Given the description of an element on the screen output the (x, y) to click on. 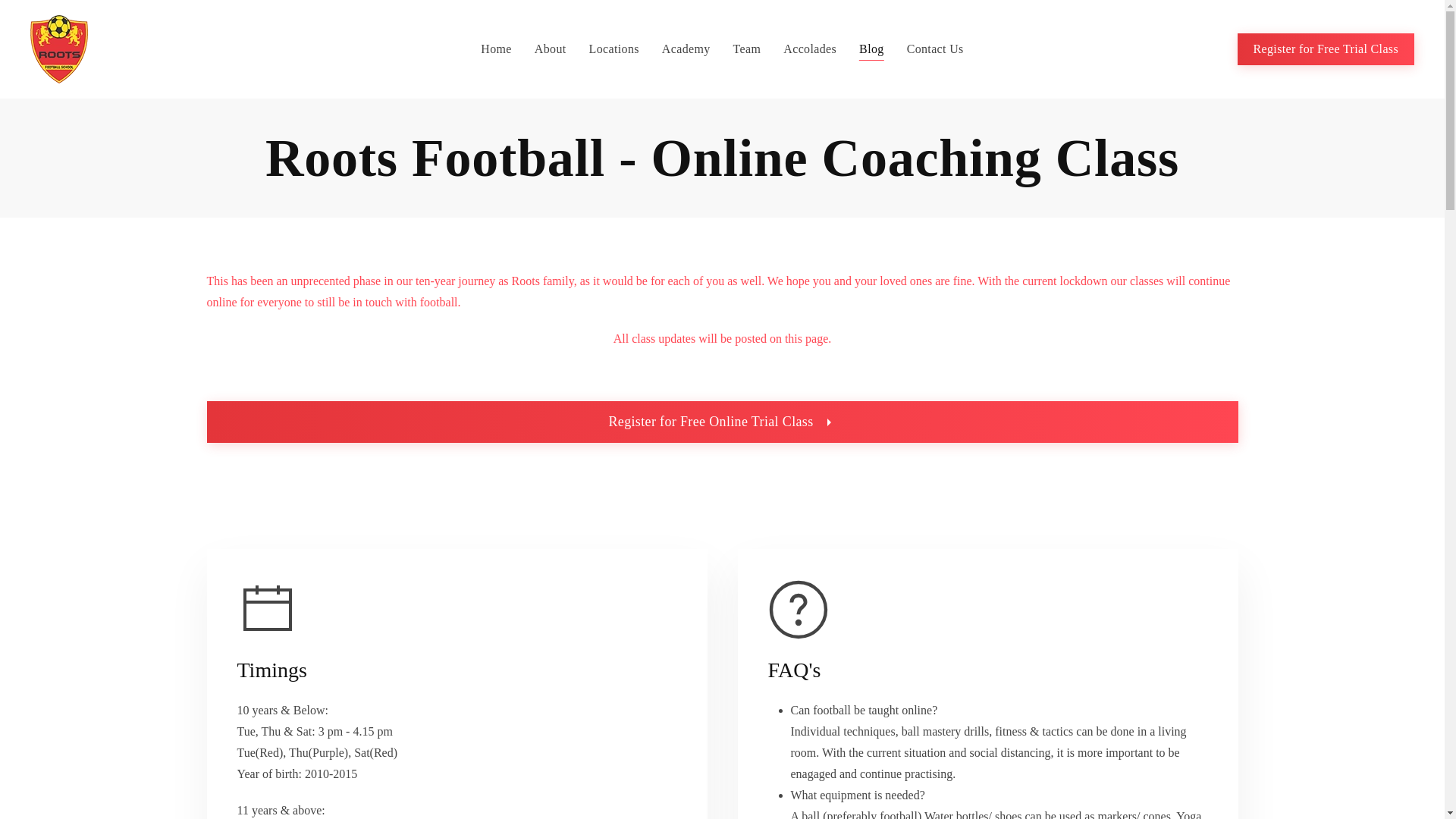
Register for Free Online Trial Class (721, 422)
Register for Free Trial Class (1325, 48)
Register for Free Online Trial Class (721, 422)
Contact Us (935, 48)
